Given the description of an element on the screen output the (x, y) to click on. 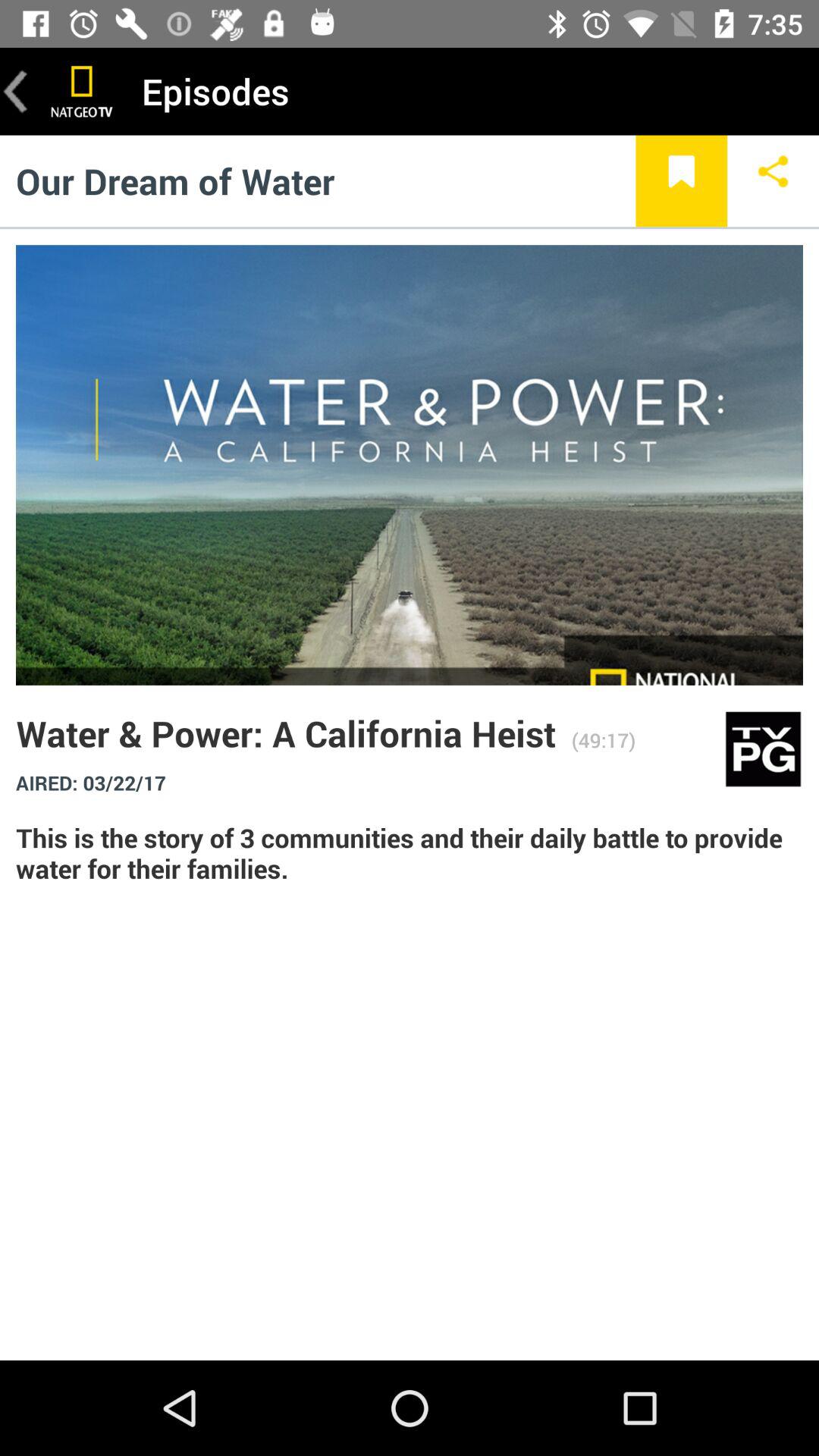
connect to bluetooth (773, 180)
